Given the description of an element on the screen output the (x, y) to click on. 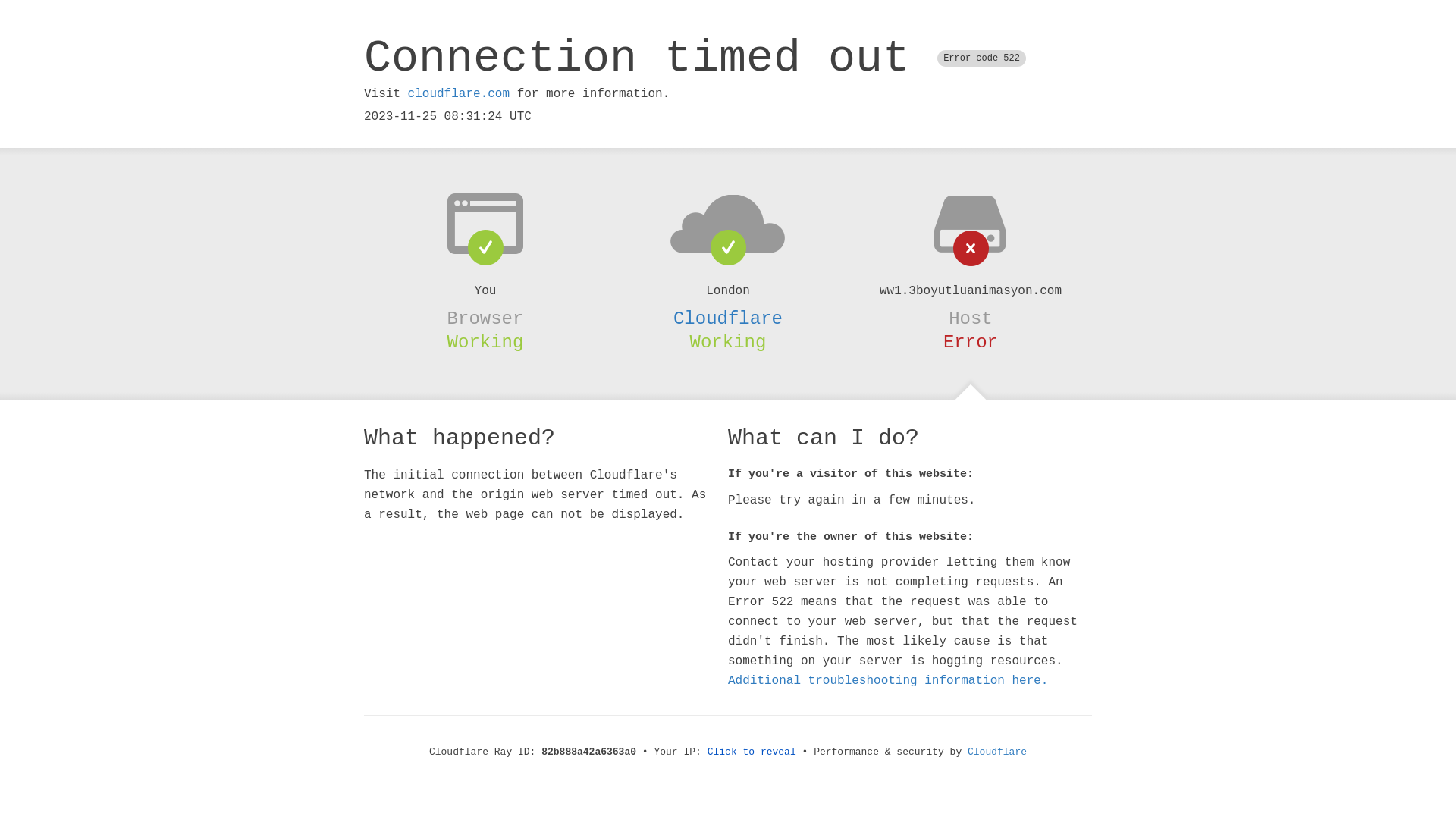
Additional troubleshooting information here. Element type: text (888, 680)
Cloudflare Element type: text (727, 318)
Cloudflare Element type: text (996, 751)
cloudflare.com Element type: text (458, 93)
Click to reveal Element type: text (751, 751)
